Given the description of an element on the screen output the (x, y) to click on. 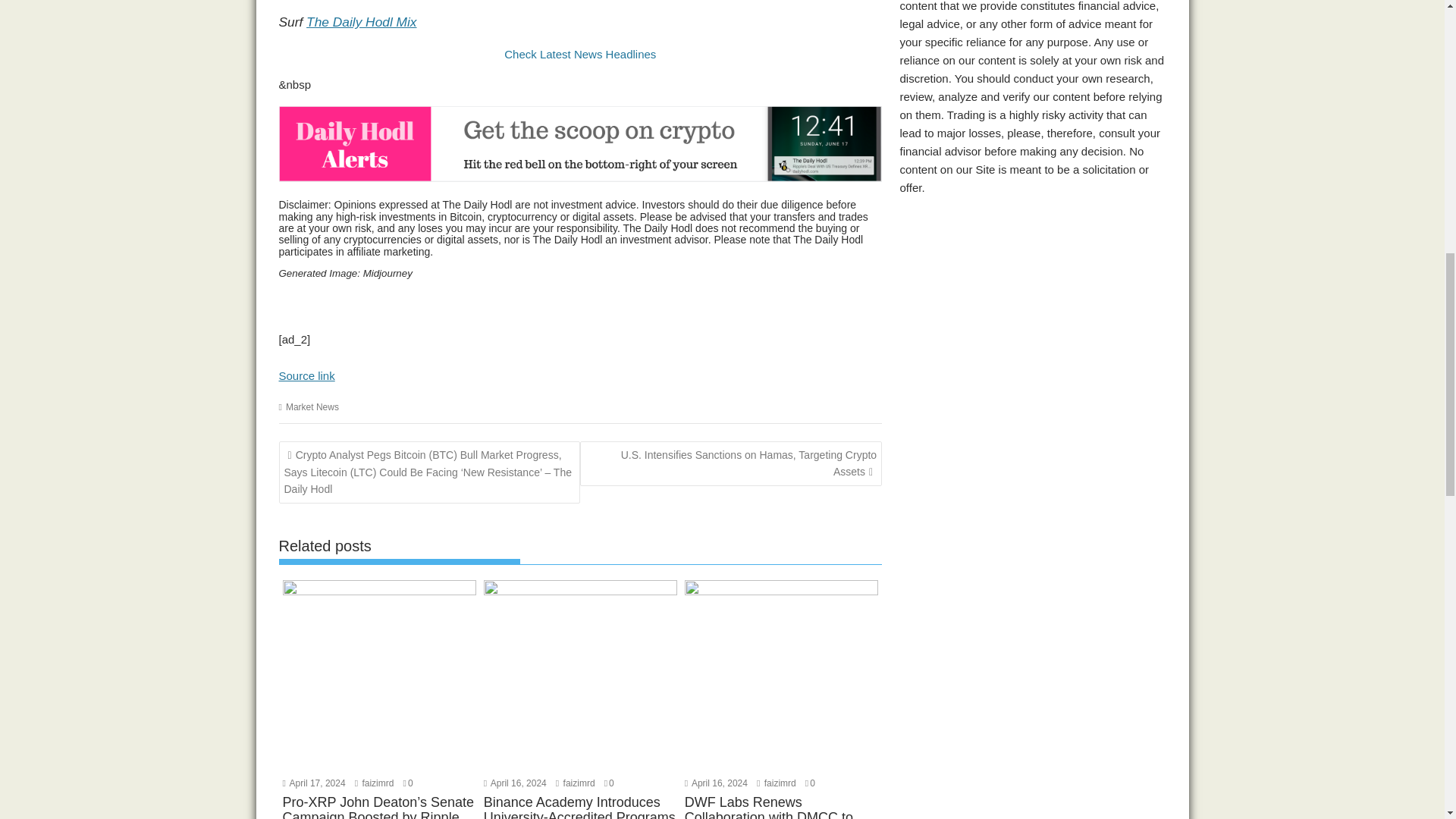
faizimrd (374, 783)
faizimrd (575, 783)
faizimrd (776, 783)
